Given the description of an element on the screen output the (x, y) to click on. 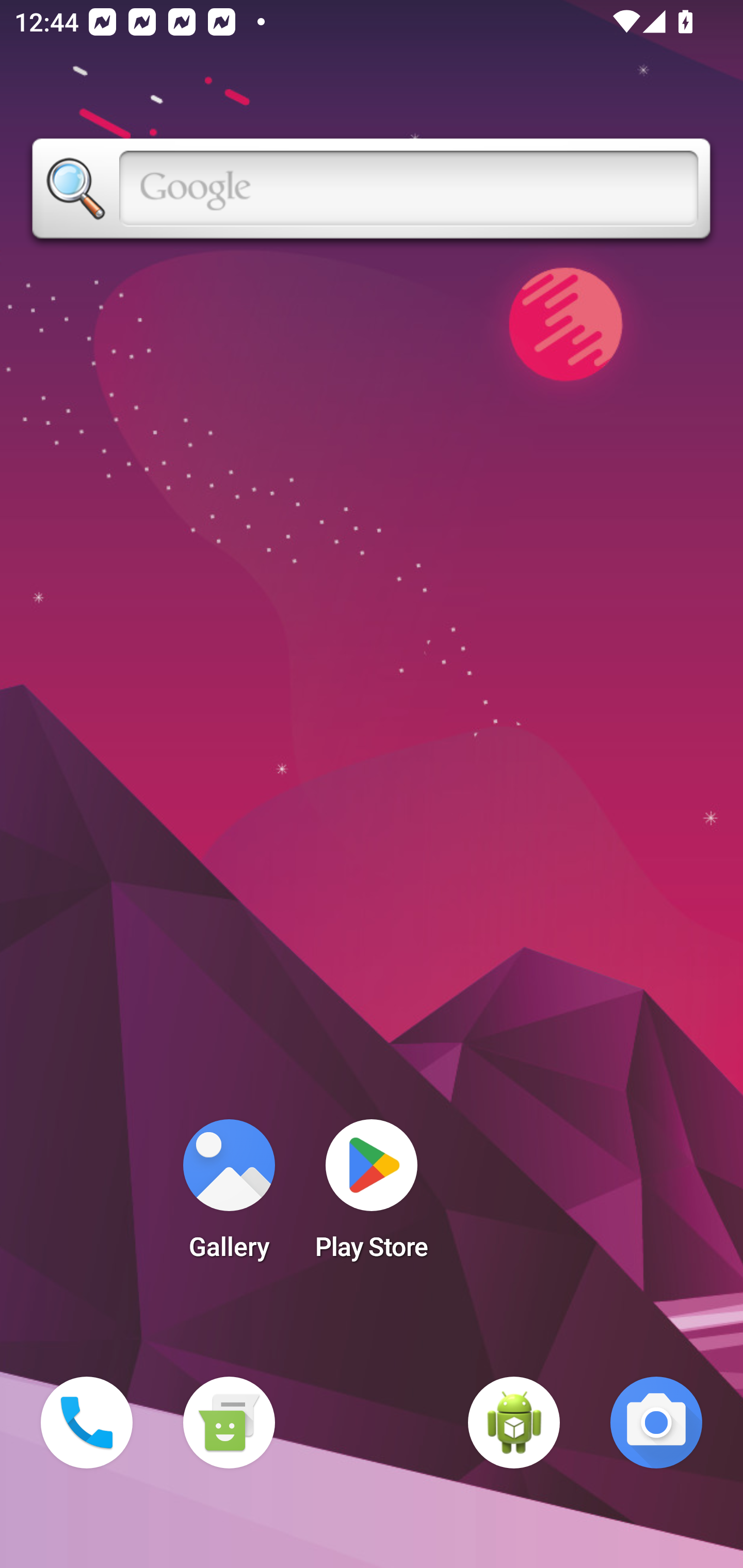
Gallery (228, 1195)
Play Store (371, 1195)
Phone (86, 1422)
Messaging (228, 1422)
WebView Browser Tester (513, 1422)
Camera (656, 1422)
